Given the description of an element on the screen output the (x, y) to click on. 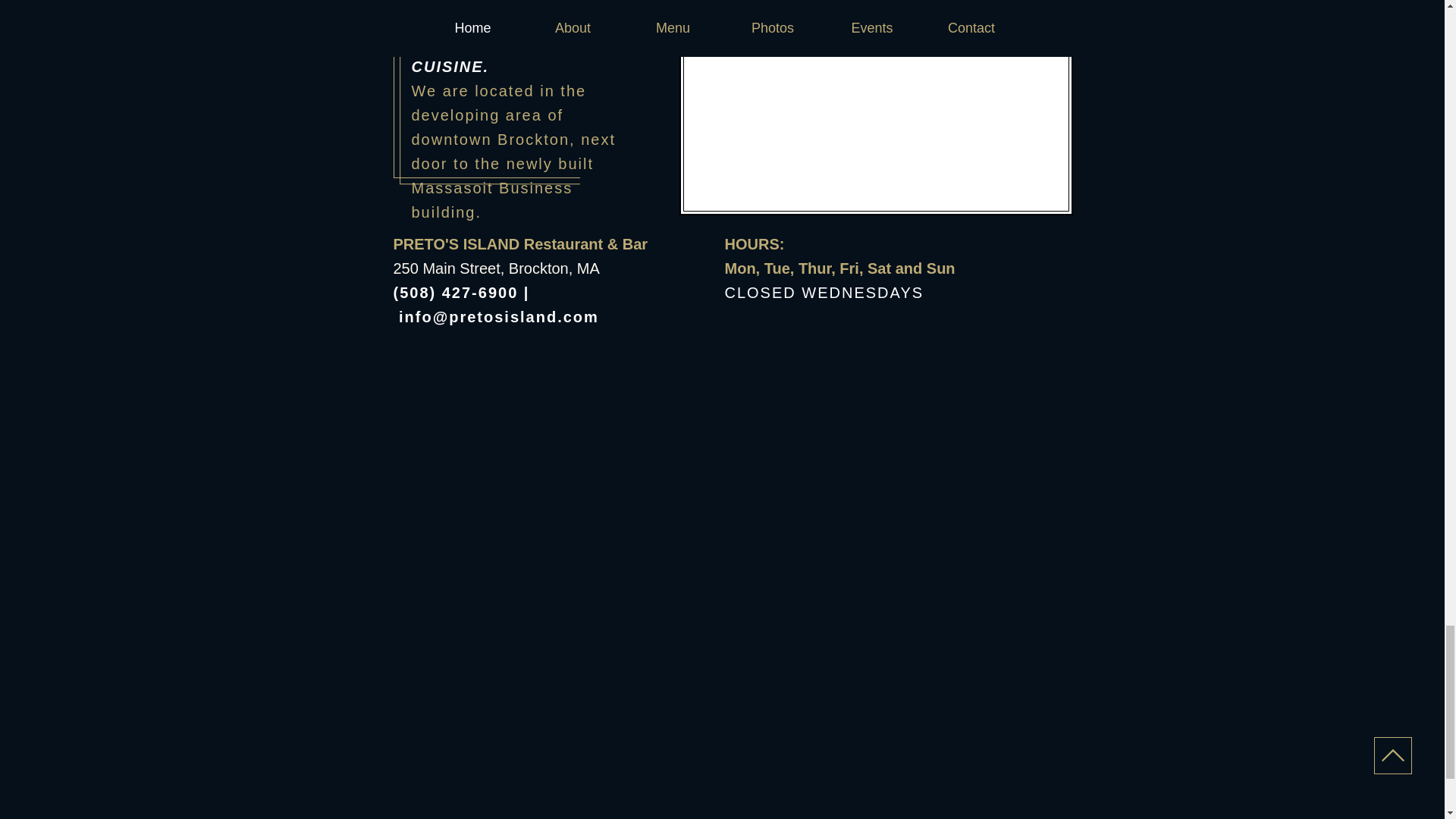
CLOSED WEDNESDAYS (824, 292)
